Given the description of an element on the screen output the (x, y) to click on. 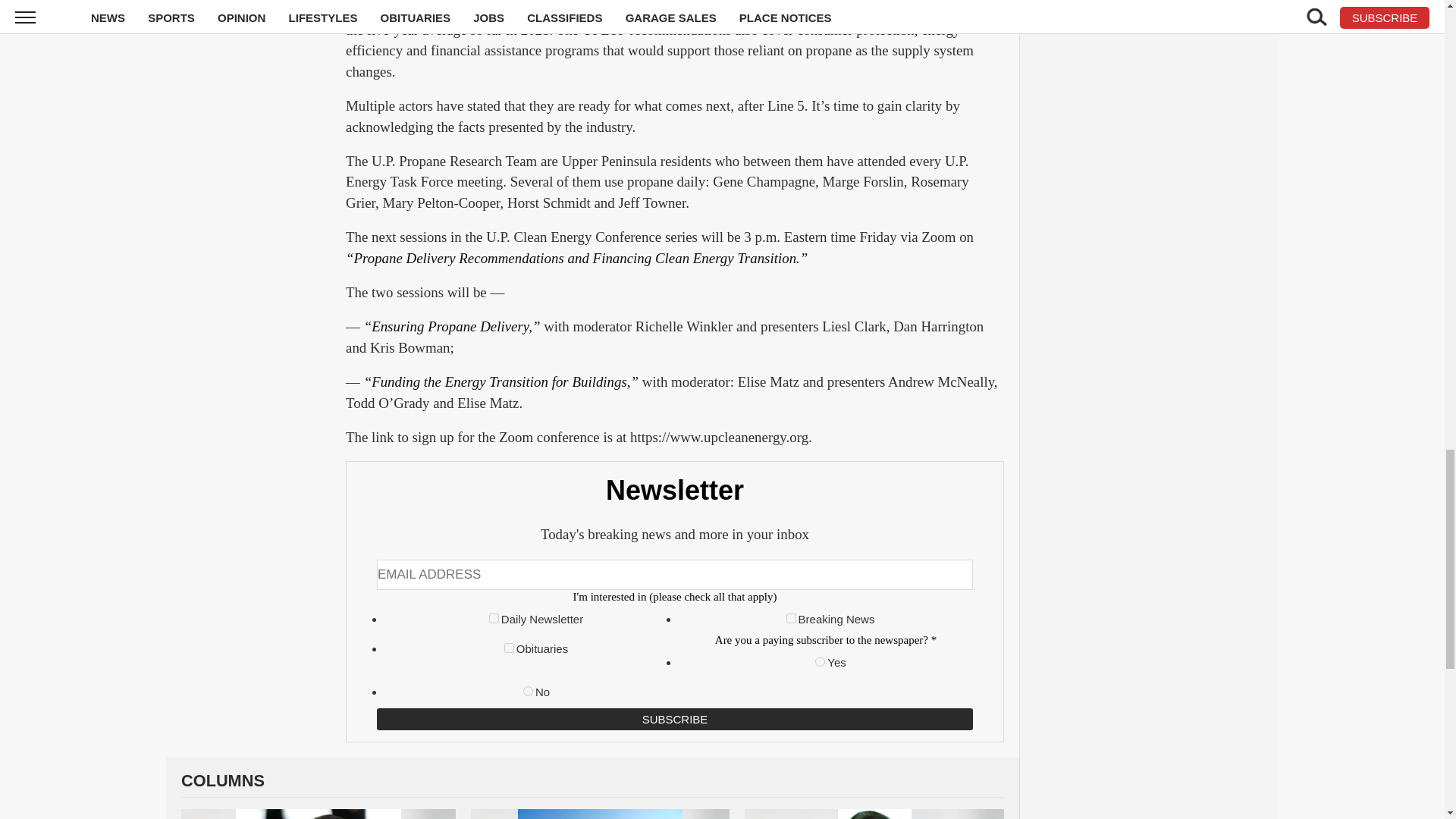
Subscribe (674, 719)
No (527, 691)
4 (508, 647)
2 (791, 618)
Yes (820, 661)
1 (494, 618)
